Given the description of an element on the screen output the (x, y) to click on. 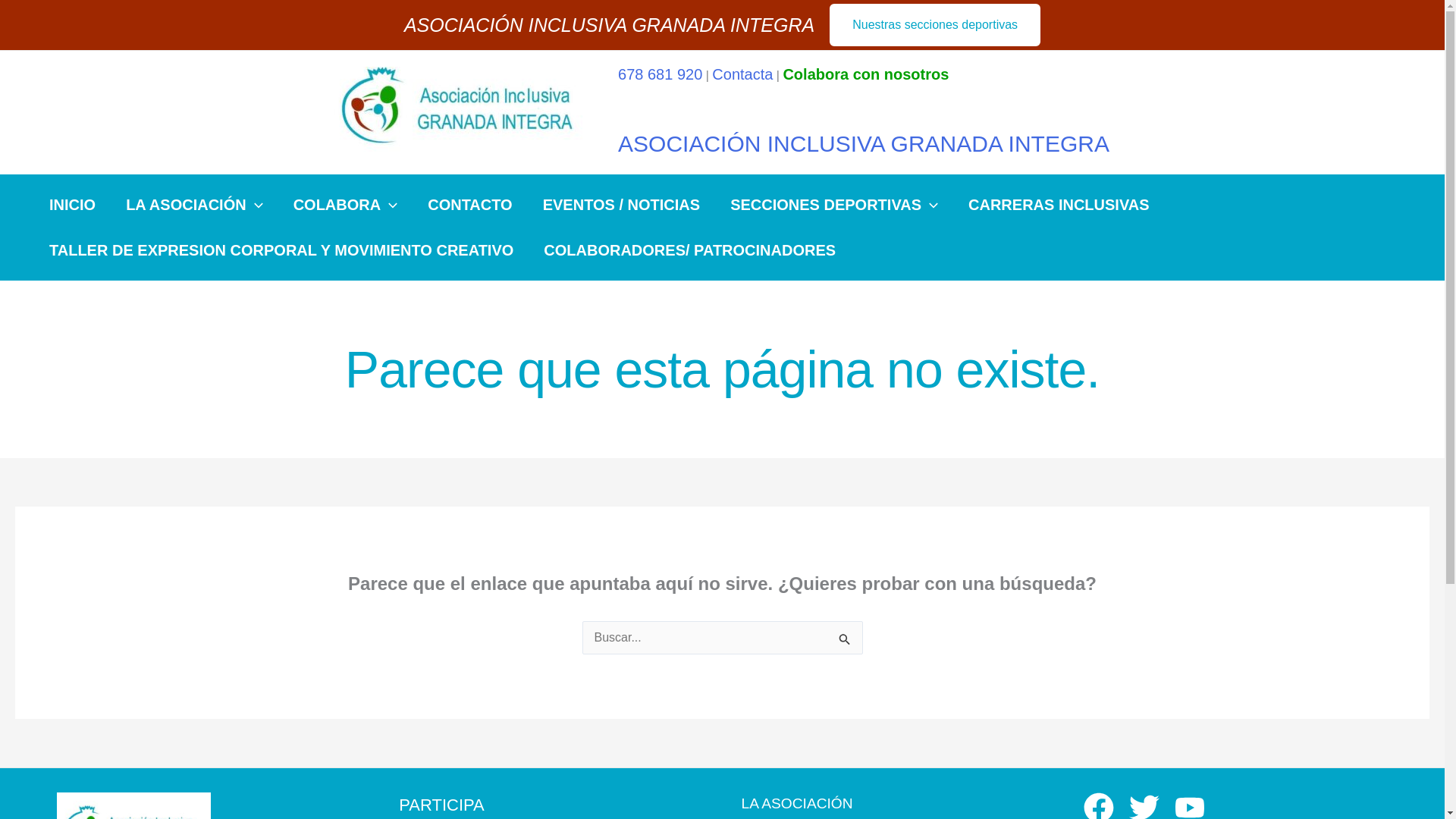
Contacta (742, 74)
TALLER DE EXPRESION CORPORAL Y MOVIMIENTO CREATIVO (280, 249)
Colabora con nosotros (866, 74)
CARRERAS INCLUSIVAS (1058, 204)
SECCIONES DEPORTIVAS (833, 204)
INICIO (71, 204)
CONTACTO (469, 204)
Nuestras secciones deportivas (935, 24)
COLABORA (345, 204)
678 681 920 (659, 74)
